Given the description of an element on the screen output the (x, y) to click on. 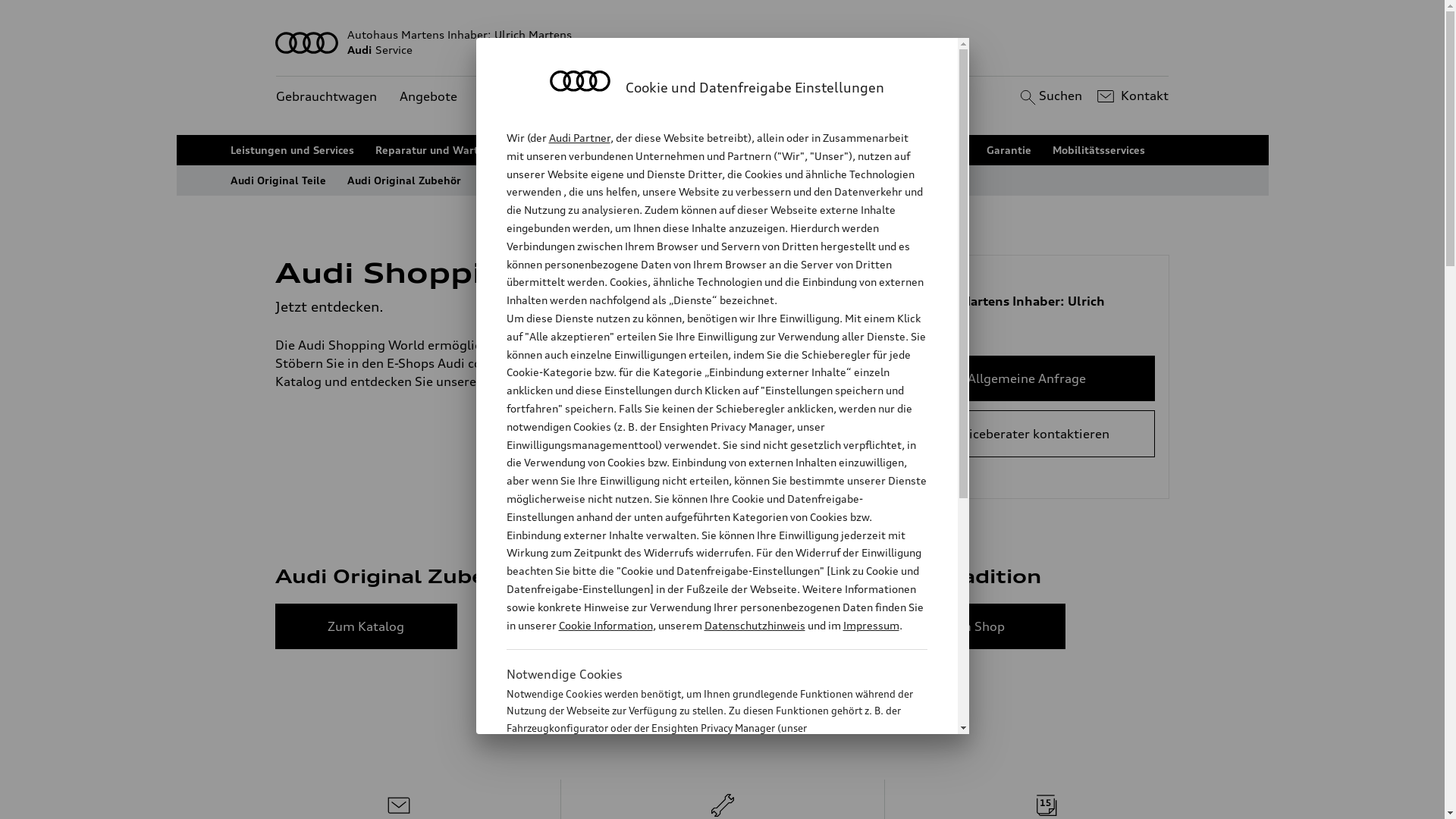
Zum Shop Element type: text (974, 626)
Autohaus Martens Inhaber: Ulrich Martens
AudiService Element type: text (722, 42)
Kontakt Element type: text (1130, 96)
Kundenservice Element type: text (523, 96)
Gebrauchtwagen Element type: text (326, 96)
Garantie Element type: text (1008, 149)
Serviceberater kontaktieren Element type: text (1025, 433)
Cookie Information Element type: text (700, 802)
Leistungen und Services Element type: text (291, 149)
Versicherungen Element type: text (925, 149)
Angebote Element type: text (428, 96)
Zum Shop Element type: text (670, 626)
Ihre Ansprechpartner Element type: text (808, 149)
Audi Shopping World Element type: text (537, 180)
Cookie Information Element type: text (605, 624)
Datenschutzhinweis Element type: text (753, 624)
Reparatur und Wartung Element type: text (436, 149)
Allgemeine Anfrage Element type: text (1025, 378)
Suchen Element type: text (1049, 96)
Audi Original Teile Element type: text (277, 180)
Impressum Element type: text (871, 624)
Audi Partner Element type: text (579, 137)
Audi Kundendialog Element type: text (682, 149)
Zum Katalog Element type: text (366, 626)
